Given the description of an element on the screen output the (x, y) to click on. 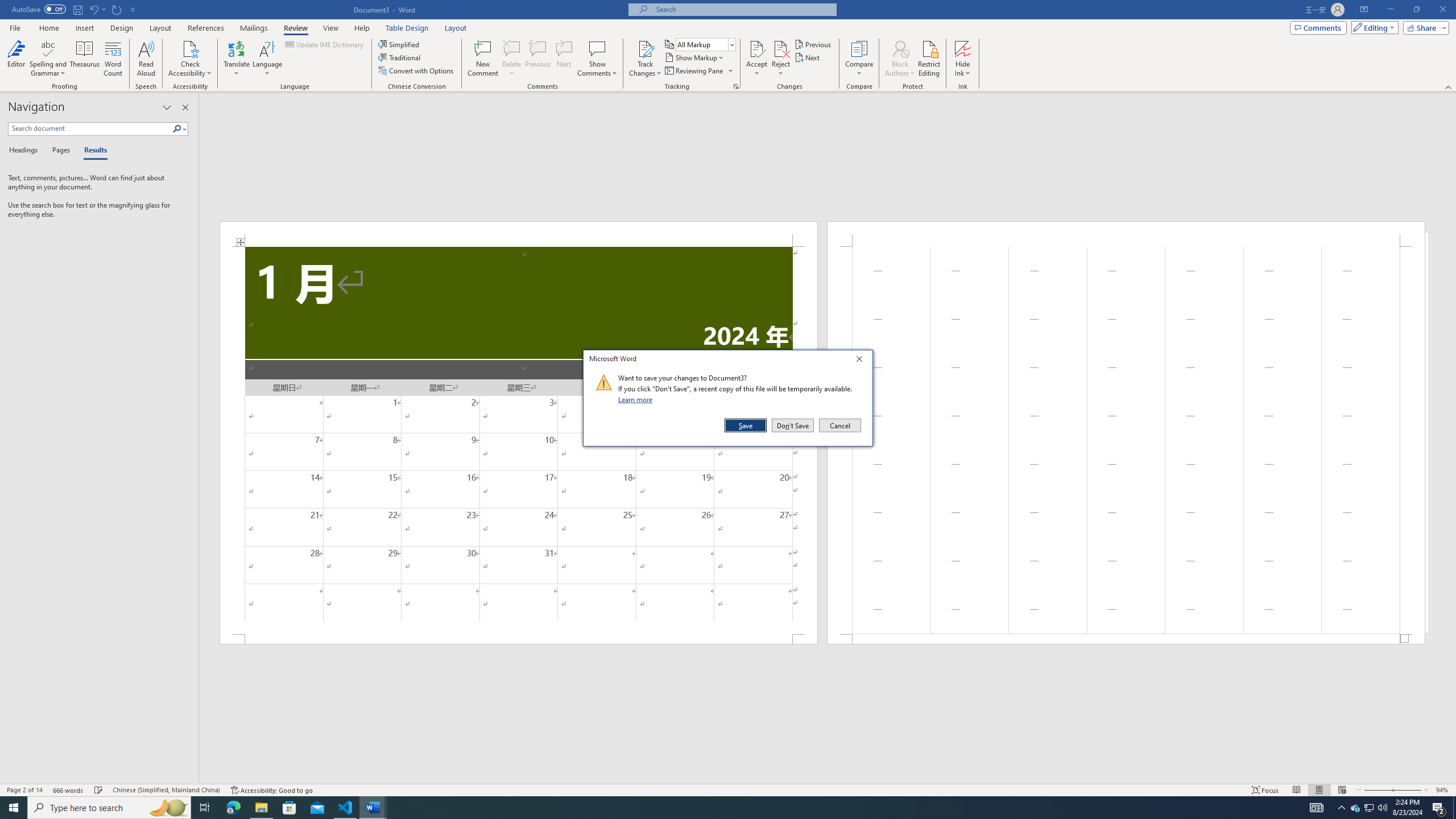
Page Number Page 2 of 14 (24, 790)
Word - 2 running windows (373, 807)
Hide Ink (962, 58)
Language (267, 58)
Microsoft Store (289, 807)
Traditional (400, 56)
Check Accessibility (189, 58)
Running applications (717, 807)
